Given the description of an element on the screen output the (x, y) to click on. 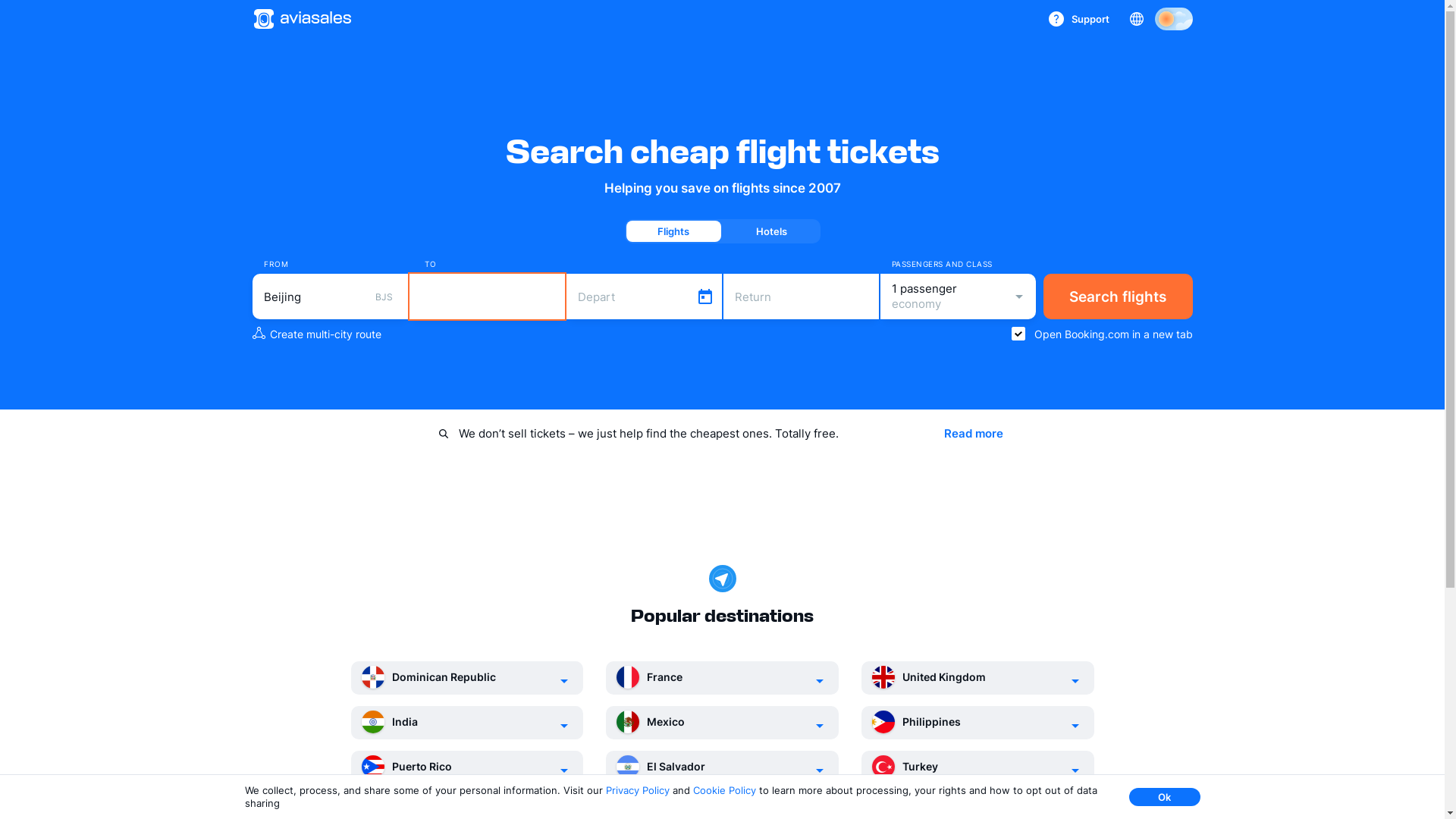
Search flights Element type: text (1117, 296)
Ok Element type: text (1163, 796)
Privacy Policy Element type: text (636, 790)
Cookie Policy Element type: text (724, 790)
Read more Element type: text (972, 433)
Hotels Element type: text (770, 231)
Flights Element type: text (673, 231)
Create multi-city route Element type: text (315, 334)
Support Element type: text (1078, 18)
